Given the description of an element on the screen output the (x, y) to click on. 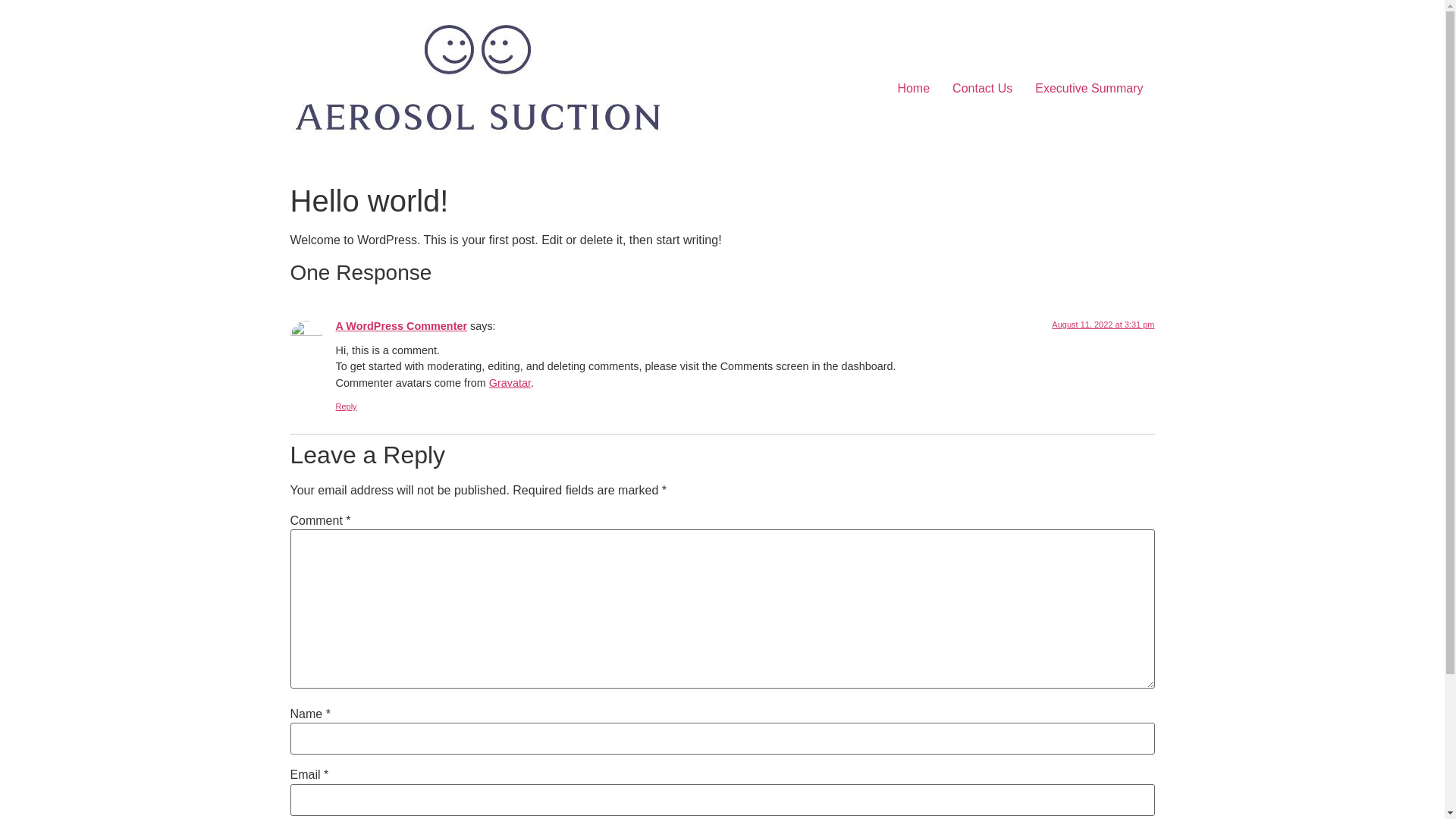
August 11, 2022 at 3:31 pm Element type: text (1102, 324)
Home Element type: text (913, 87)
Contact Us Element type: text (982, 87)
A WordPress Commenter Element type: text (401, 326)
Gravatar Element type: text (509, 382)
Reply Element type: text (345, 406)
Executive Summary Element type: text (1088, 87)
